Given the description of an element on the screen output the (x, y) to click on. 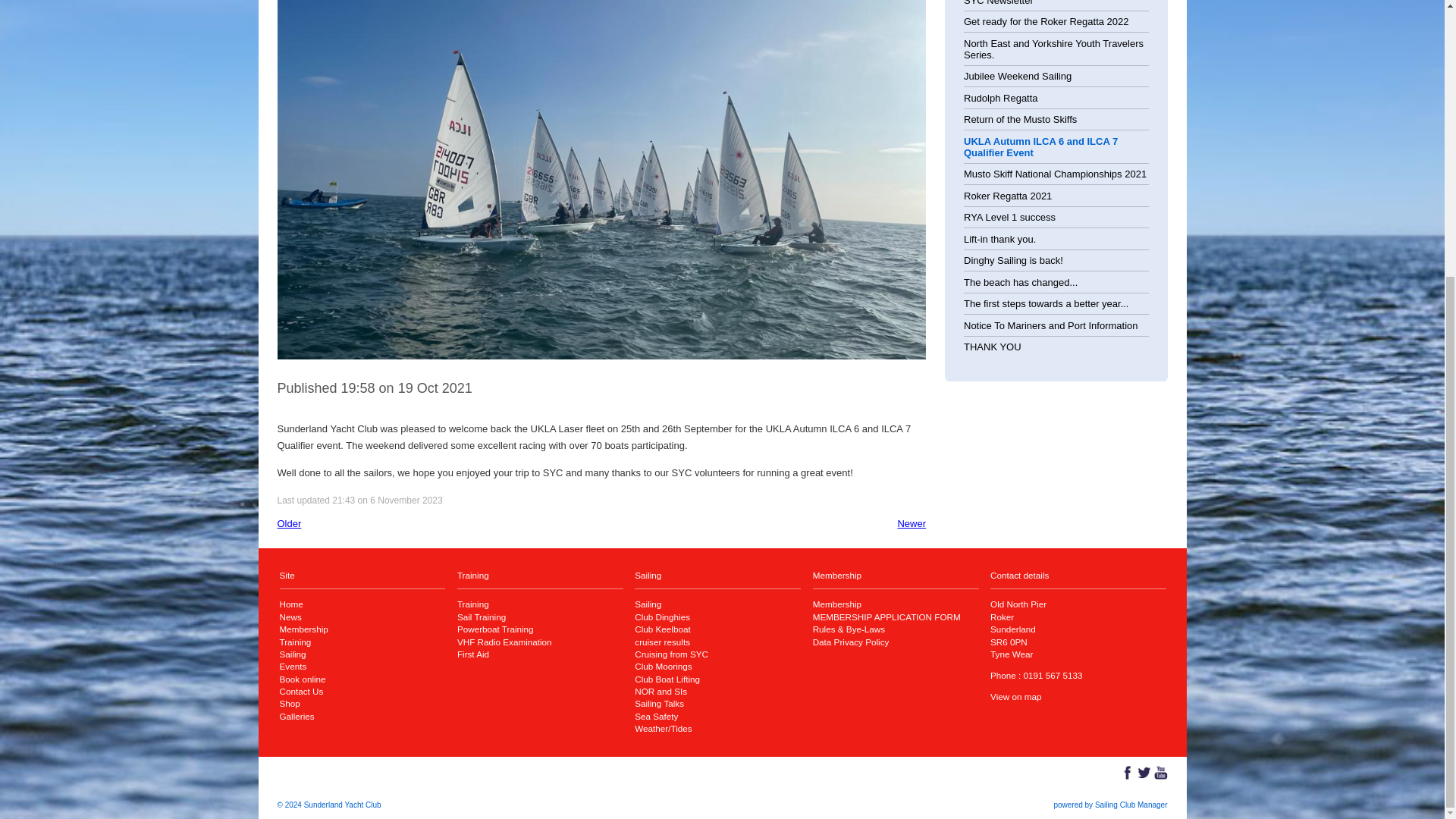
UKLA Autumn ILCA 6 and ILCA 7 Qualifier Event (1040, 146)
Get ready for the Roker Regatta 2022 (1046, 21)
Dinghy Sailing is back! (1012, 260)
Rudolph Regatta (1000, 98)
Jubilee Weekend Sailing (1017, 75)
North East and Yorkshire Youth Travelers Series. (1052, 48)
Roker Regatta 2021 (1007, 195)
RYA Level 1 success (1009, 216)
SYC Newsletter (998, 2)
Lift-in thank you. (999, 238)
Return of the Musto Skiffs (1020, 119)
Musto Skiff National Championships 2021 (1055, 173)
